Given the description of an element on the screen output the (x, y) to click on. 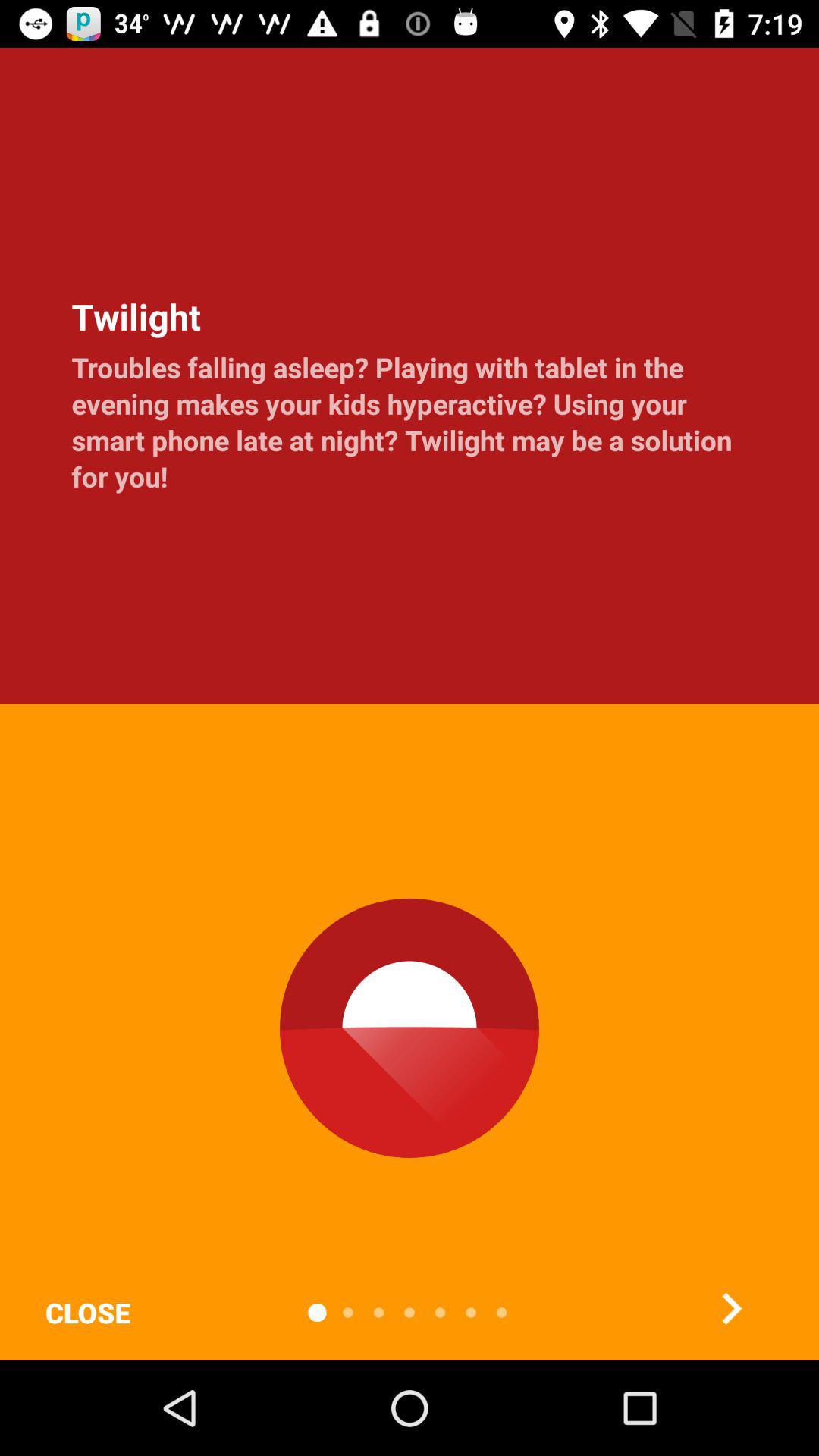
press item at the bottom right corner (731, 1308)
